Given the description of an element on the screen output the (x, y) to click on. 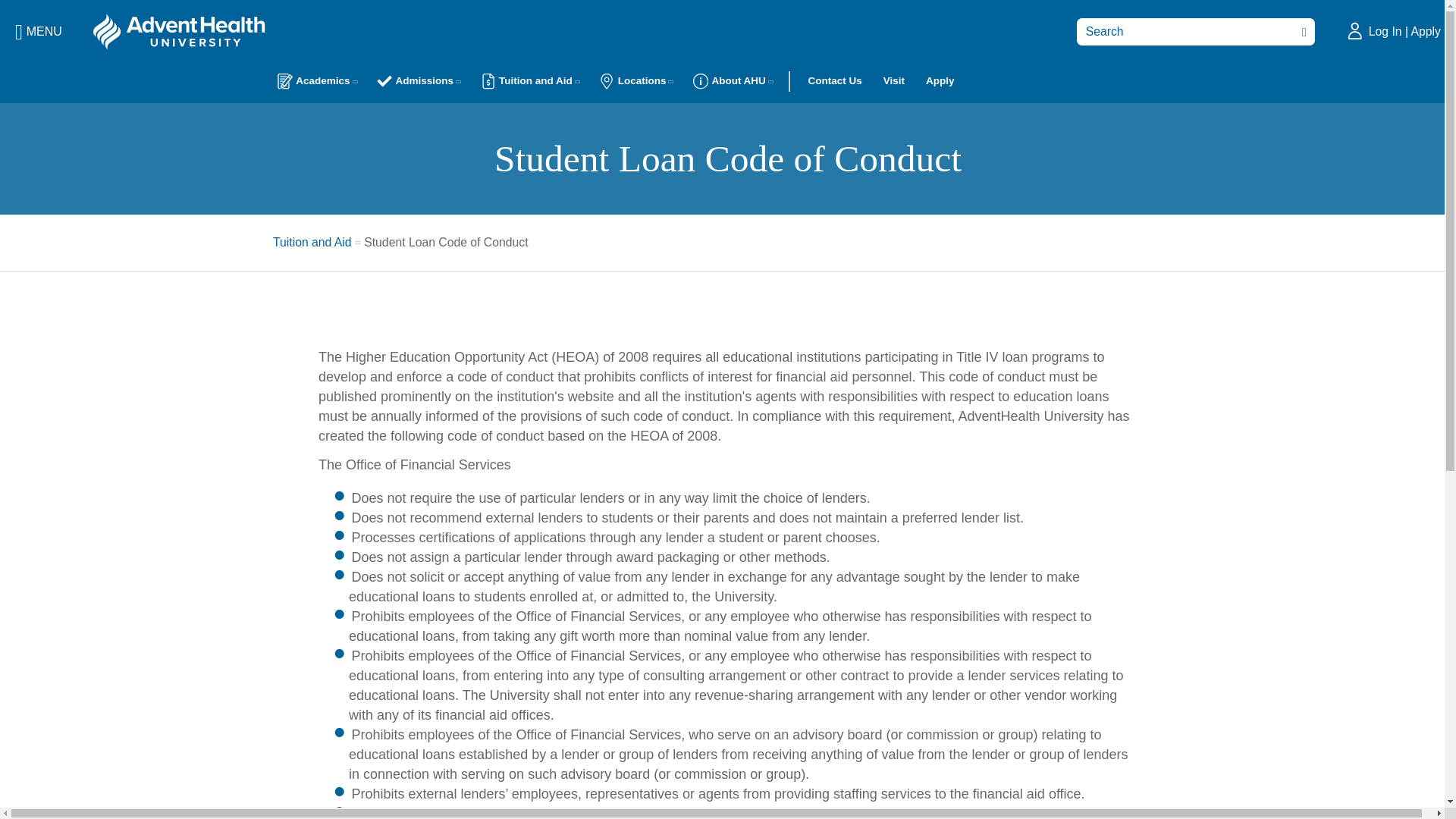
Admissions (417, 80)
Locations (635, 80)
Search (1301, 31)
Home (178, 30)
Tuition and Aid (529, 80)
Main Menu (38, 31)
Search (1301, 31)
Academics (316, 80)
MENU (38, 31)
About AHU (732, 80)
Search (1301, 31)
Enter the terms you wish to search for. (1195, 31)
